Given the description of an element on the screen output the (x, y) to click on. 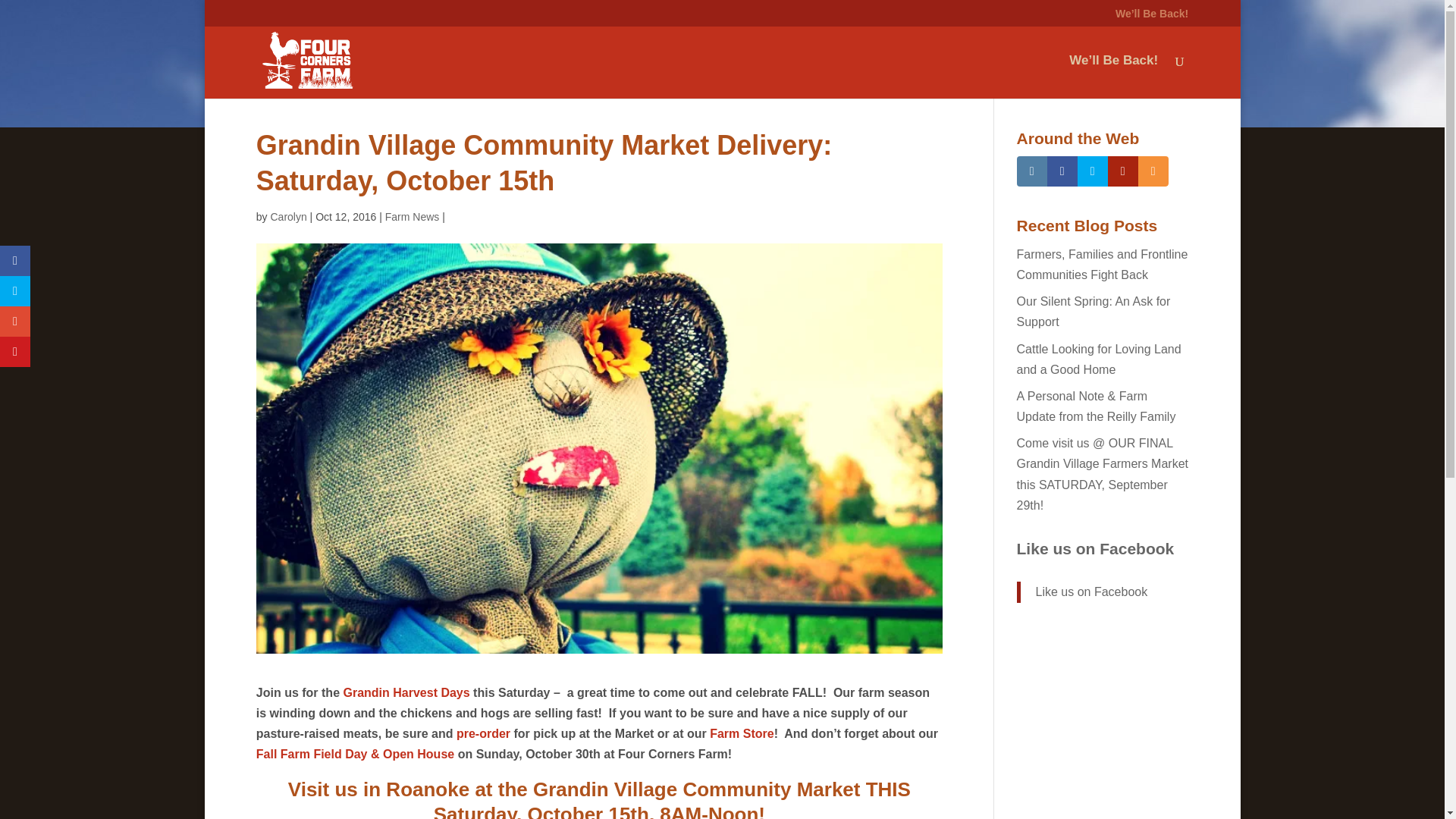
Farmers, Families and Frontline Communities Fight Back (1102, 264)
Like us on Facebook (1091, 591)
Cattle Looking for Loving Land and a Good Home (1098, 359)
Farm Store (741, 733)
Like us on Facebook (1095, 548)
Farm News (412, 216)
Carolyn (287, 216)
Posts by Carolyn (287, 216)
pre-order (484, 733)
Our Silent Spring: An Ask for Support (1093, 311)
